Given the description of an element on the screen output the (x, y) to click on. 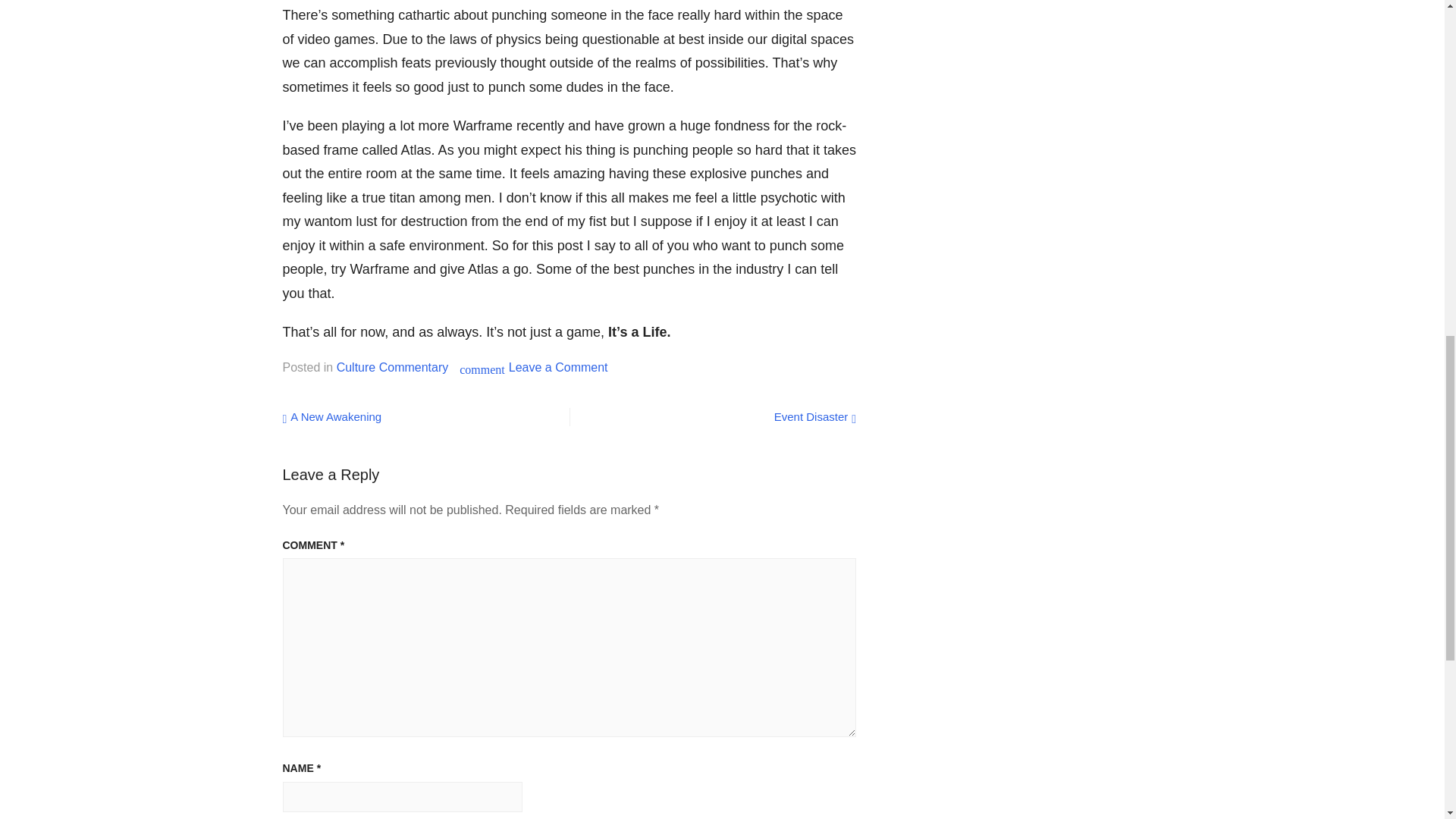
Event Disaster (815, 416)
Culture Commentary (392, 367)
A New Awakening (331, 416)
